Given the description of an element on the screen output the (x, y) to click on. 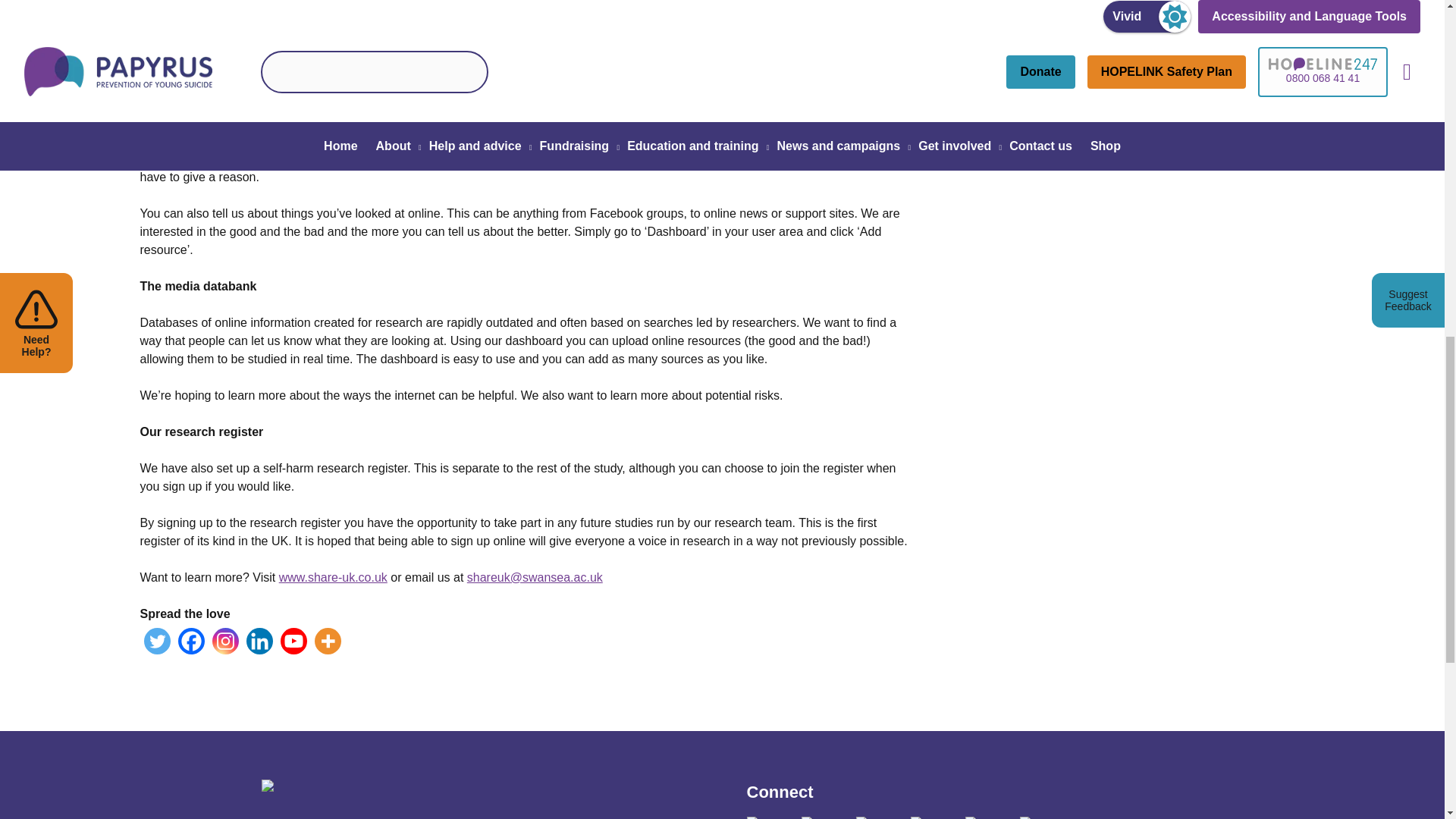
Twitter (157, 641)
Youtube (294, 641)
Linkedin (259, 641)
More (327, 641)
Instagram (225, 641)
Facebook (190, 641)
